Given the description of an element on the screen output the (x, y) to click on. 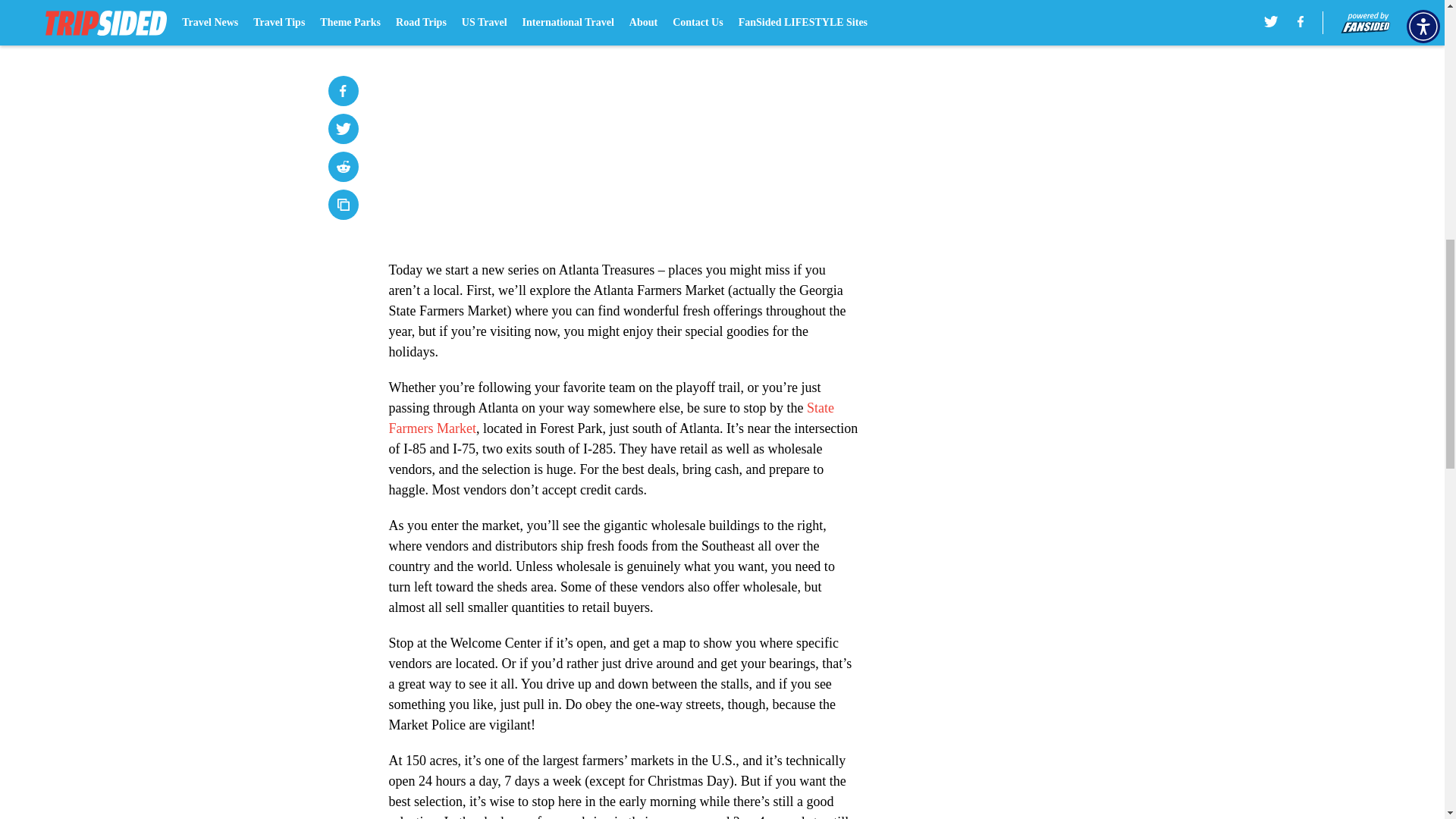
State Farmers Market (610, 417)
